Given the description of an element on the screen output the (x, y) to click on. 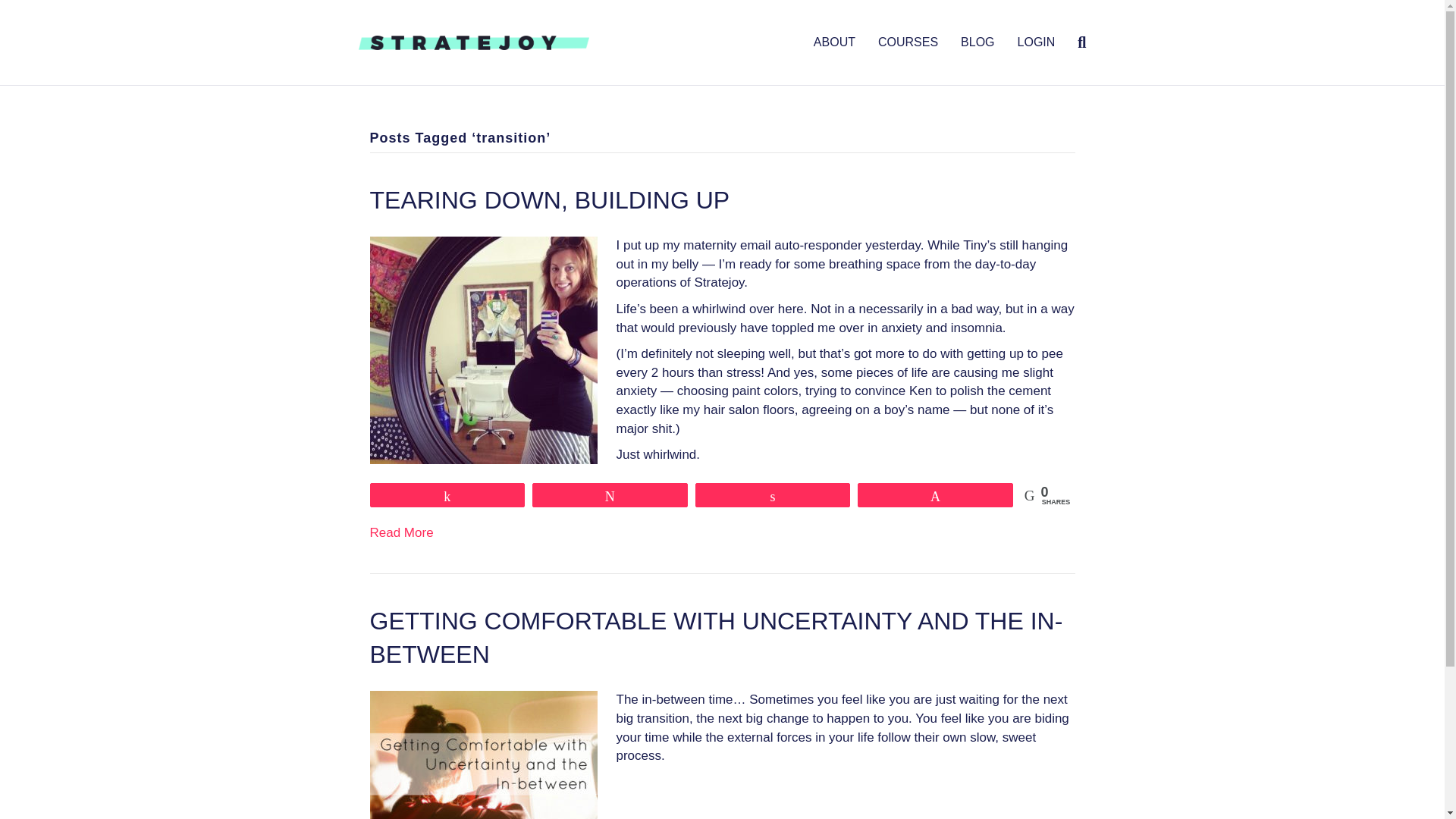
Read More (401, 532)
Tearing Down, Building Up (482, 349)
COURSES (907, 42)
LOGIN (1036, 42)
BLOG (977, 42)
Getting Comfortable with Uncertainty and the In-between (715, 638)
TEARING DOWN, BUILDING UP (549, 199)
Tearing Down, Building Up (549, 199)
ABOUT (834, 42)
GETTING COMFORTABLE WITH UNCERTAINTY AND THE IN-BETWEEN (715, 638)
Getting Comfortable with Uncertainty and the In-between (482, 766)
